Given the description of an element on the screen output the (x, y) to click on. 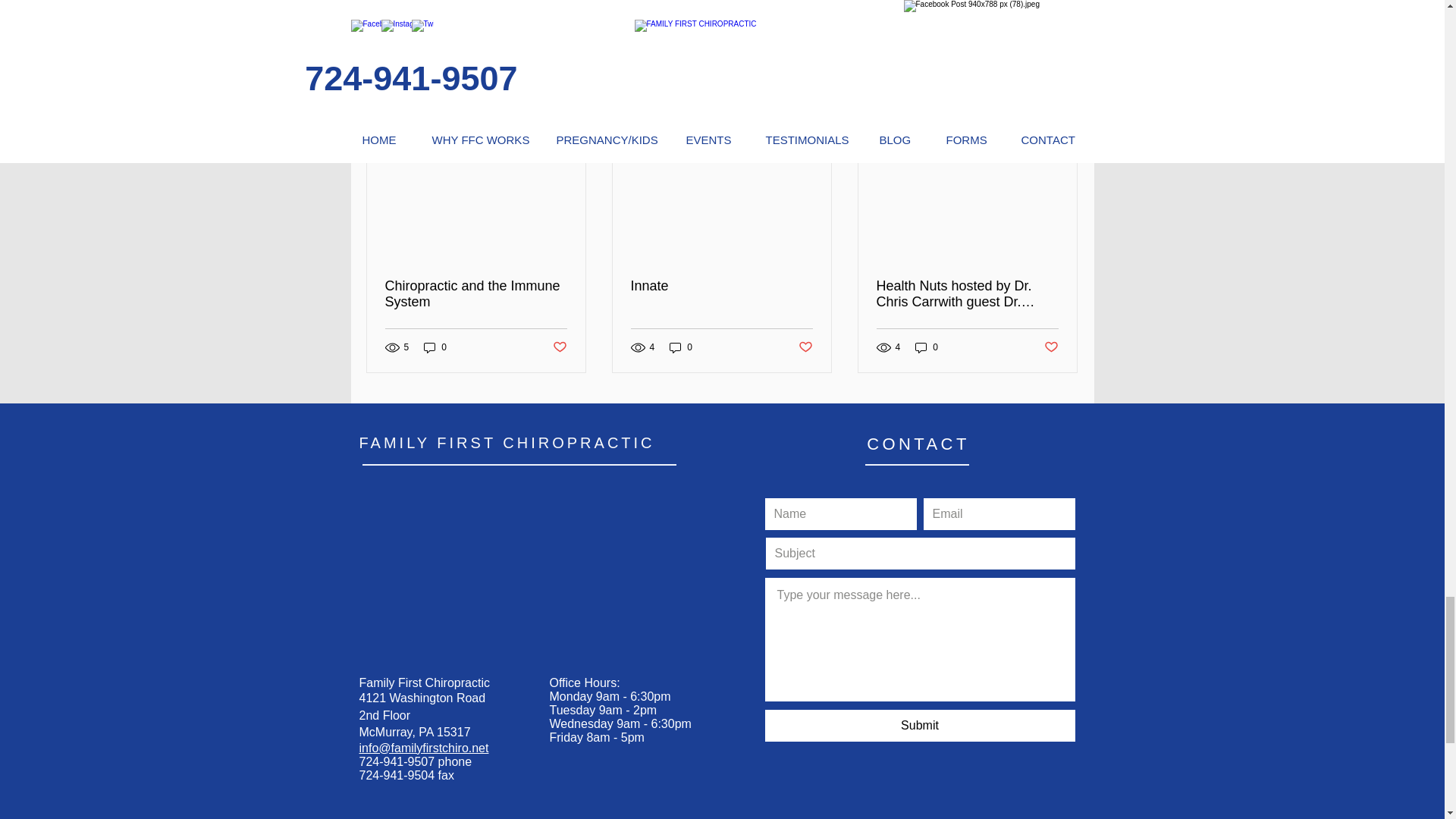
McMurray, PA 15317 (414, 731)
Post not marked as liked (804, 347)
0 (435, 347)
724-941-9507 phone (415, 761)
0 (681, 347)
Post not marked as liked (558, 347)
2nd Floor (384, 715)
Innate (721, 286)
0 (926, 347)
